Given the description of an element on the screen output the (x, y) to click on. 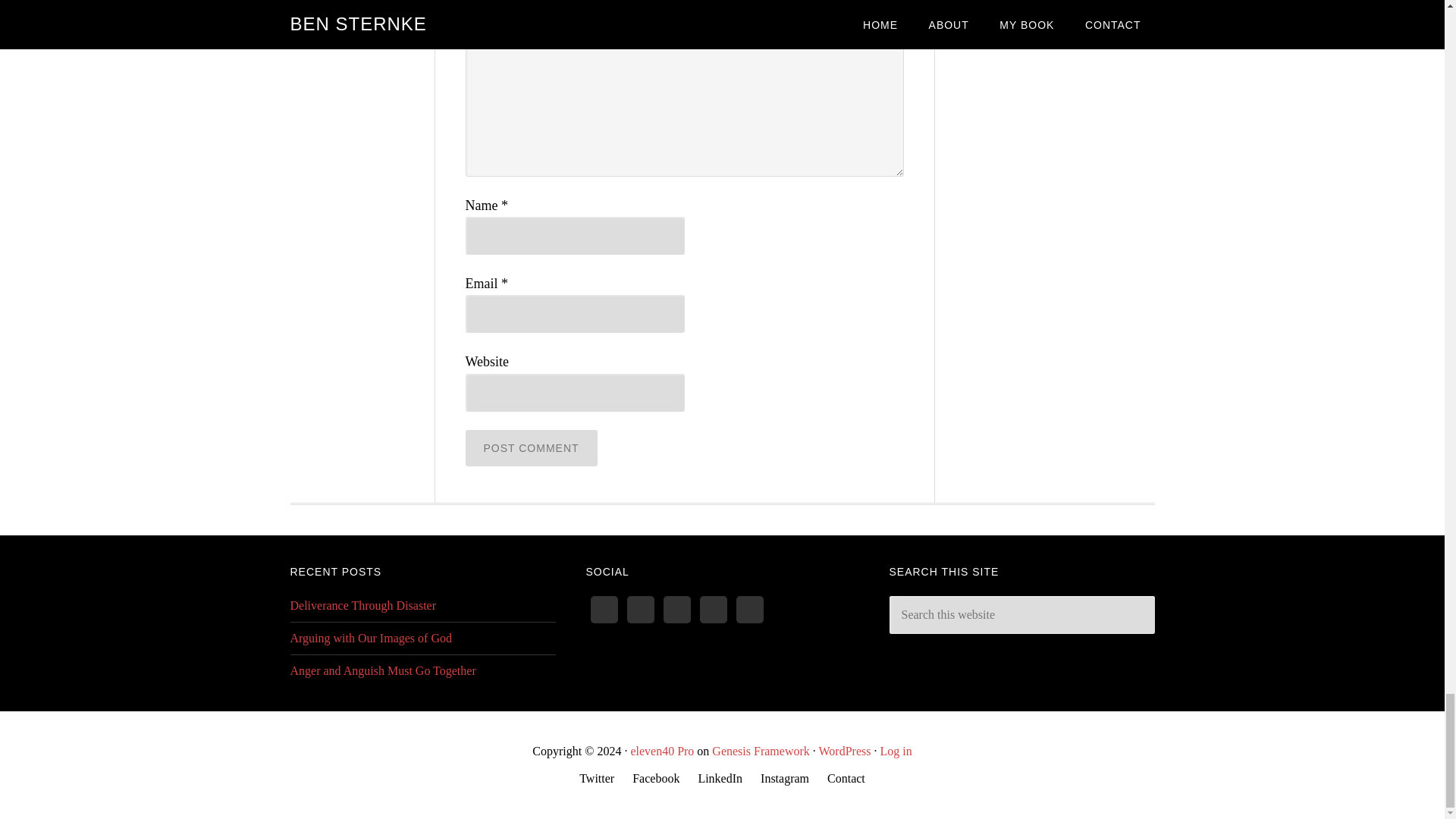
Post Comment (530, 447)
